Given the description of an element on the screen output the (x, y) to click on. 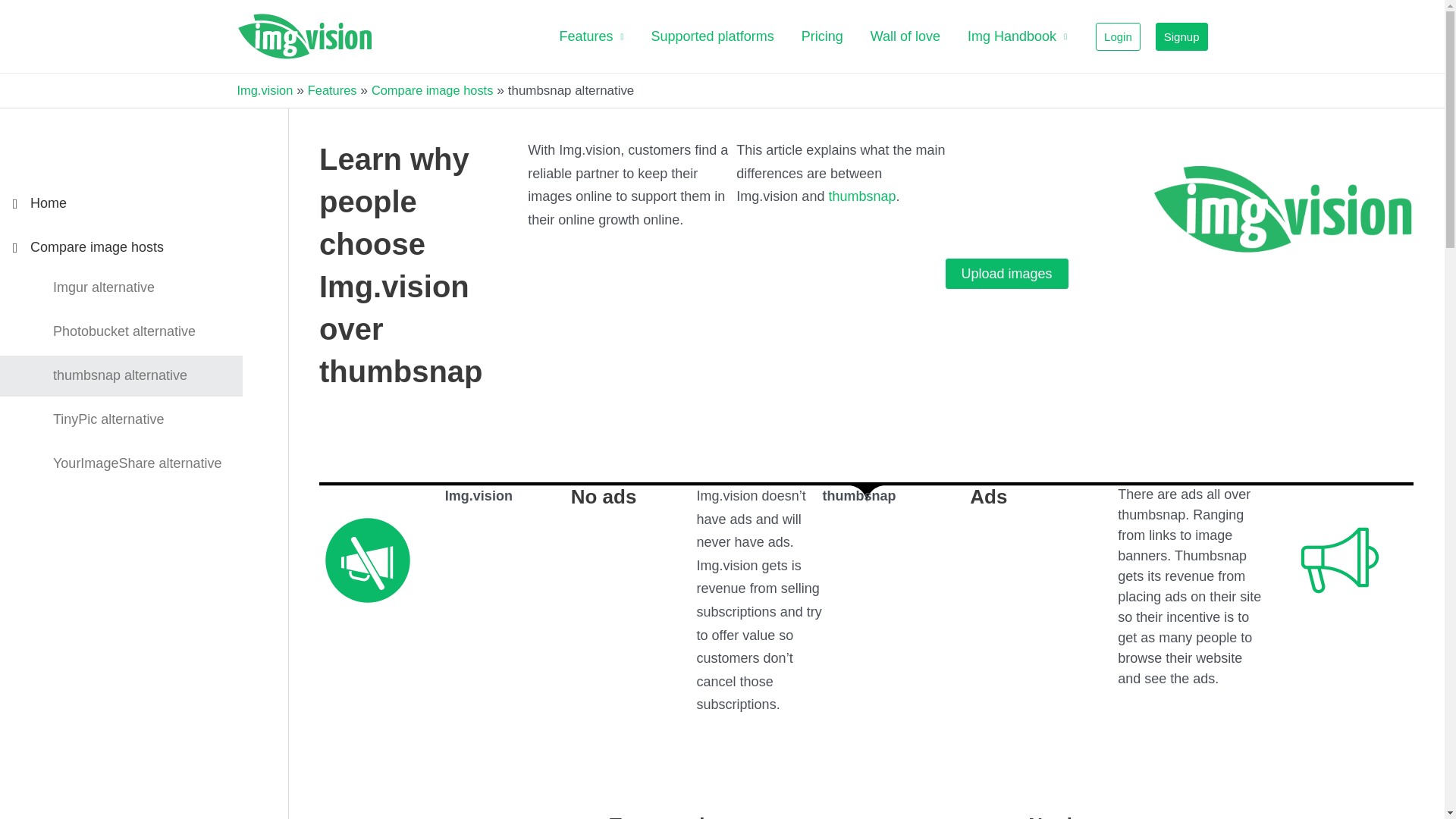
Signup (1182, 36)
Features (591, 36)
Wall of love (905, 36)
Img Handbook (1016, 36)
Pricing (822, 36)
Login (1118, 36)
Supported platforms (712, 36)
